Given the description of an element on the screen output the (x, y) to click on. 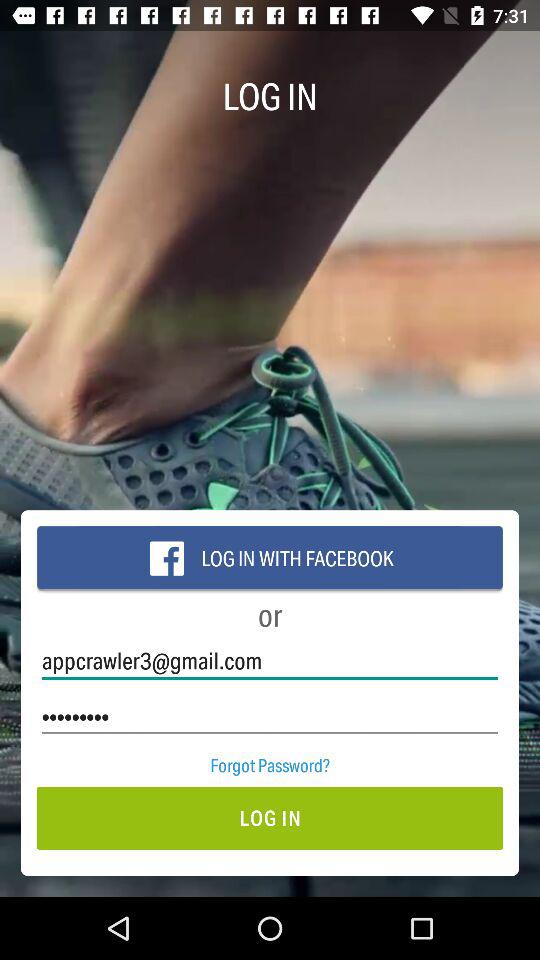
turn on the forgot password? icon (269, 764)
